Given the description of an element on the screen output the (x, y) to click on. 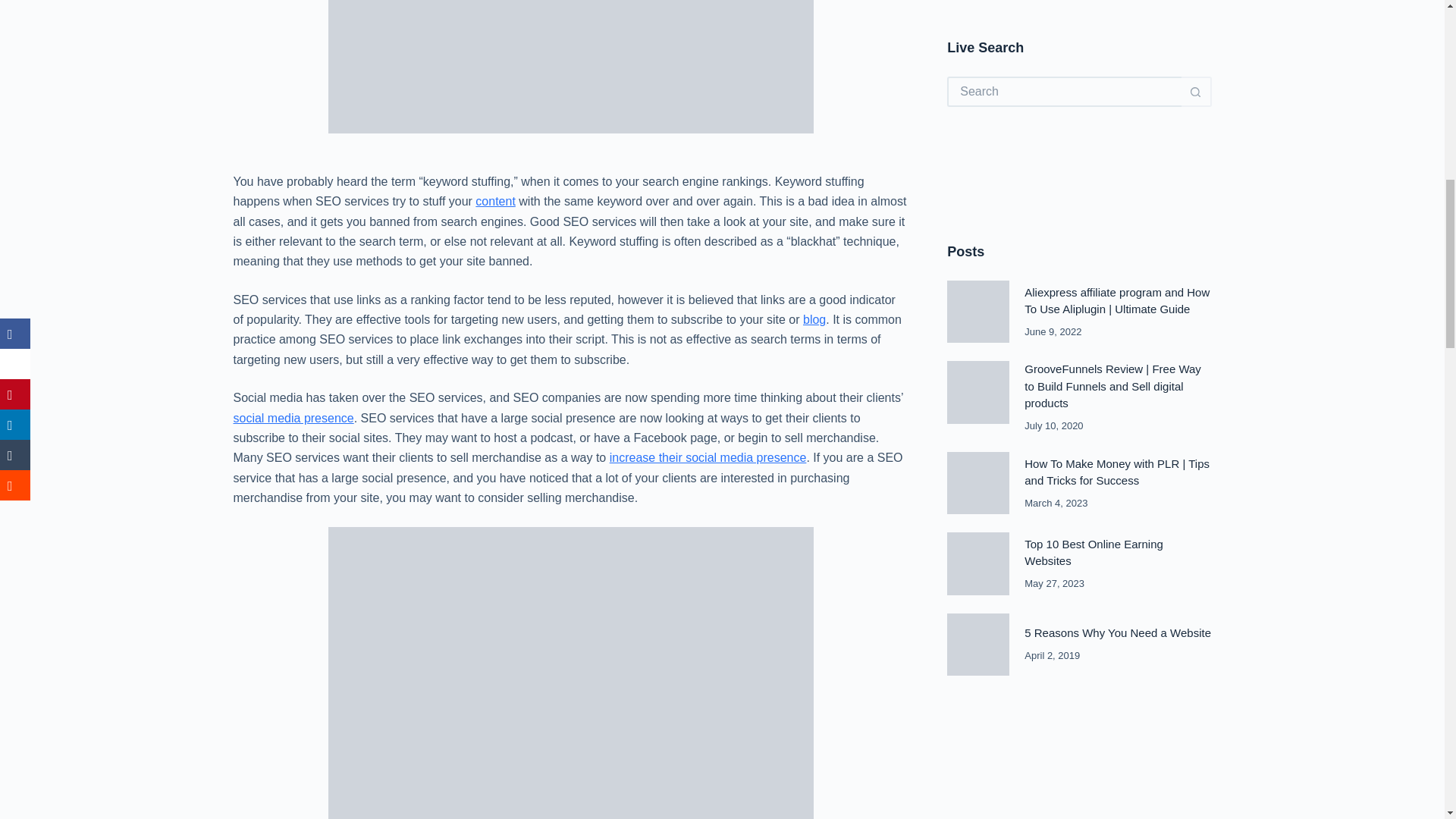
content (495, 201)
increase their social media presence (708, 457)
Top 10 Best Online Earning Websites (1094, 255)
5 Reasons Why You Need a Website (1118, 335)
social media presence (292, 418)
blog (814, 318)
